Given the description of an element on the screen output the (x, y) to click on. 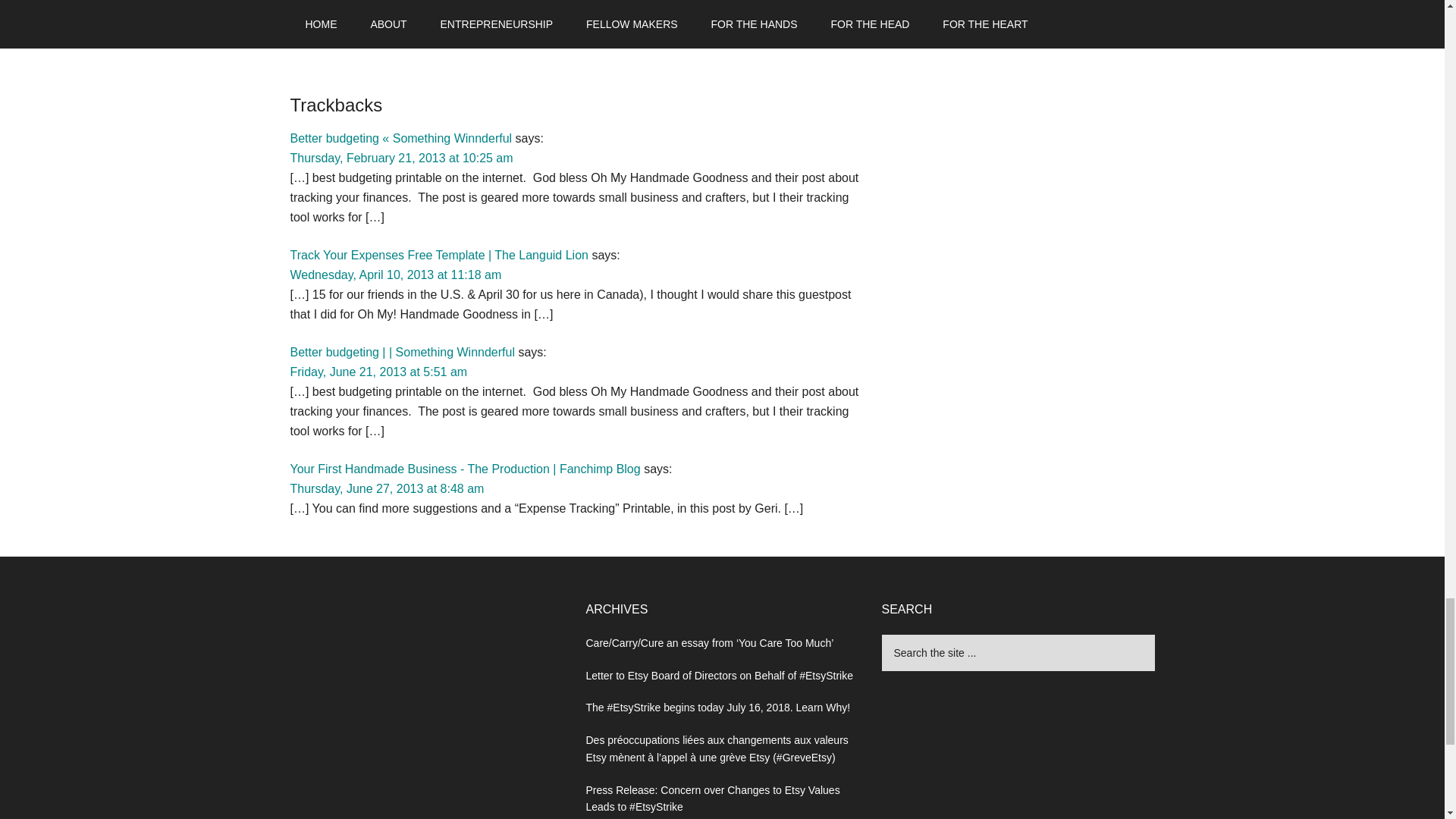
For the Head (469, 21)
Entrepreneurship (391, 21)
